Given the description of an element on the screen output the (x, y) to click on. 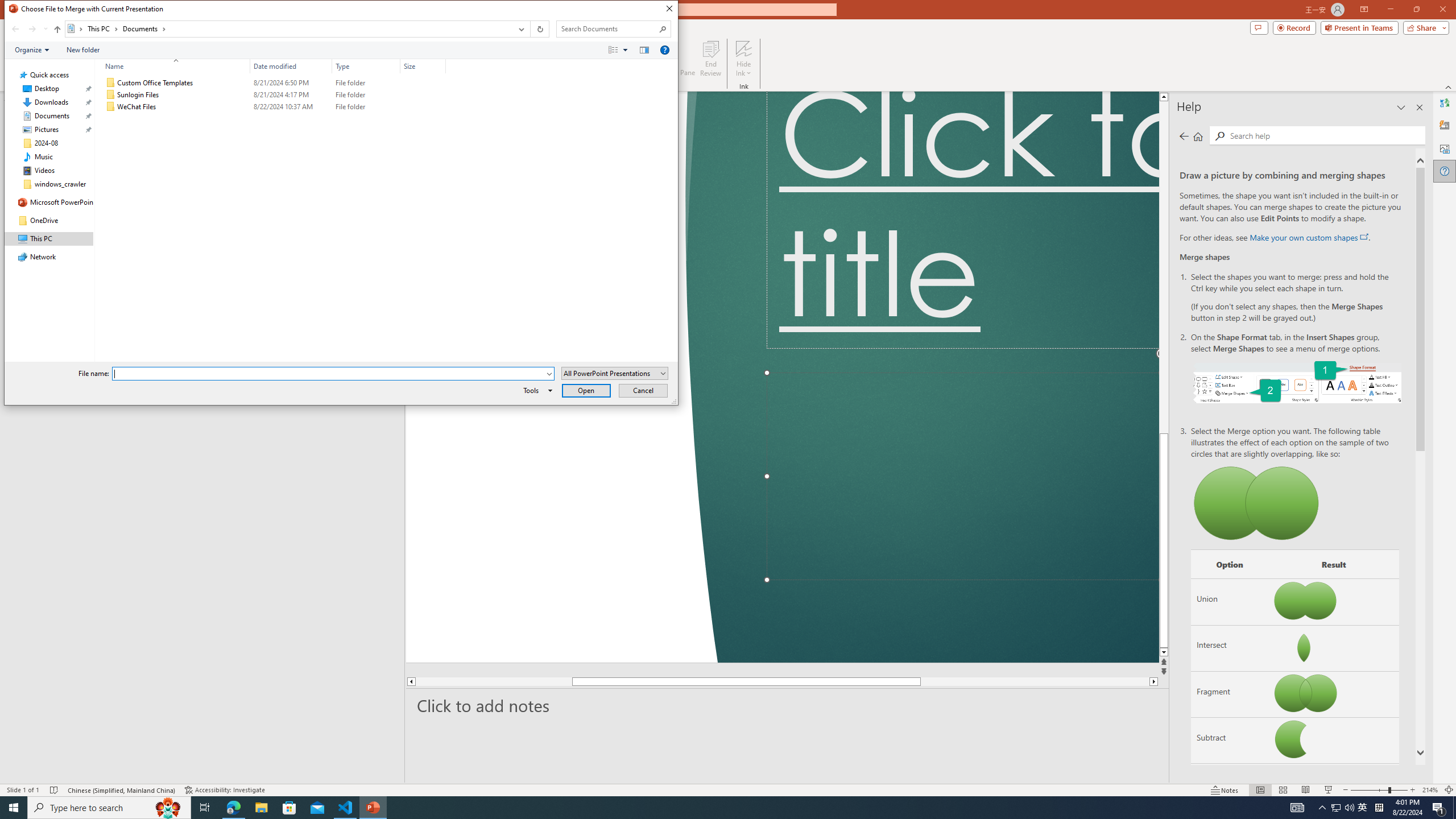
Date modified (290, 106)
Hide Ink (743, 58)
openinnewwindow (1363, 237)
Forward (Alt + Right Arrow) (31, 28)
Class: UIImage (111, 106)
Up to "This PC" (Alt + Up Arrow) (57, 29)
Size (422, 65)
